Given the description of an element on the screen output the (x, y) to click on. 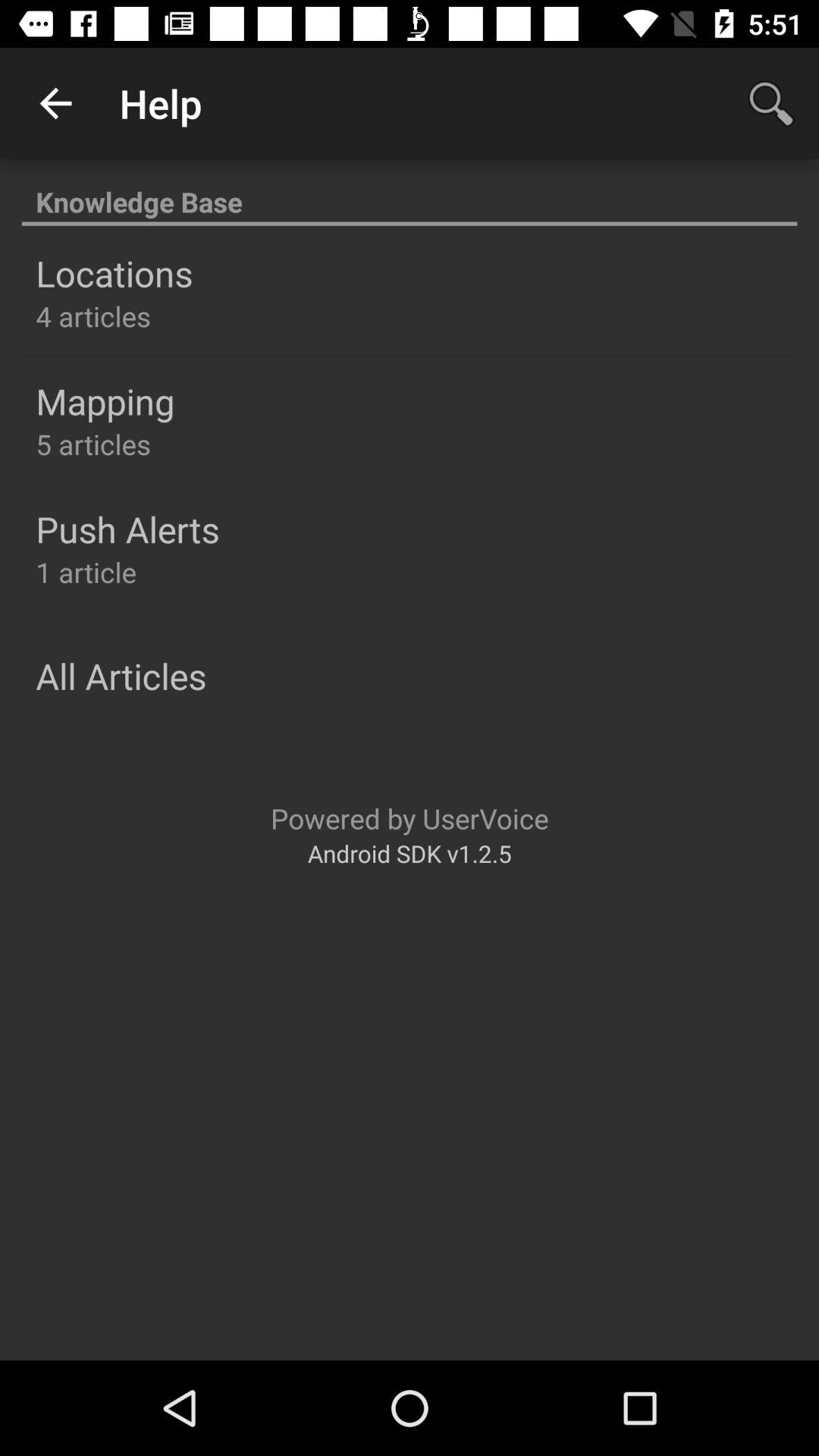
open item above the powered by uservoice icon (120, 675)
